Given the description of an element on the screen output the (x, y) to click on. 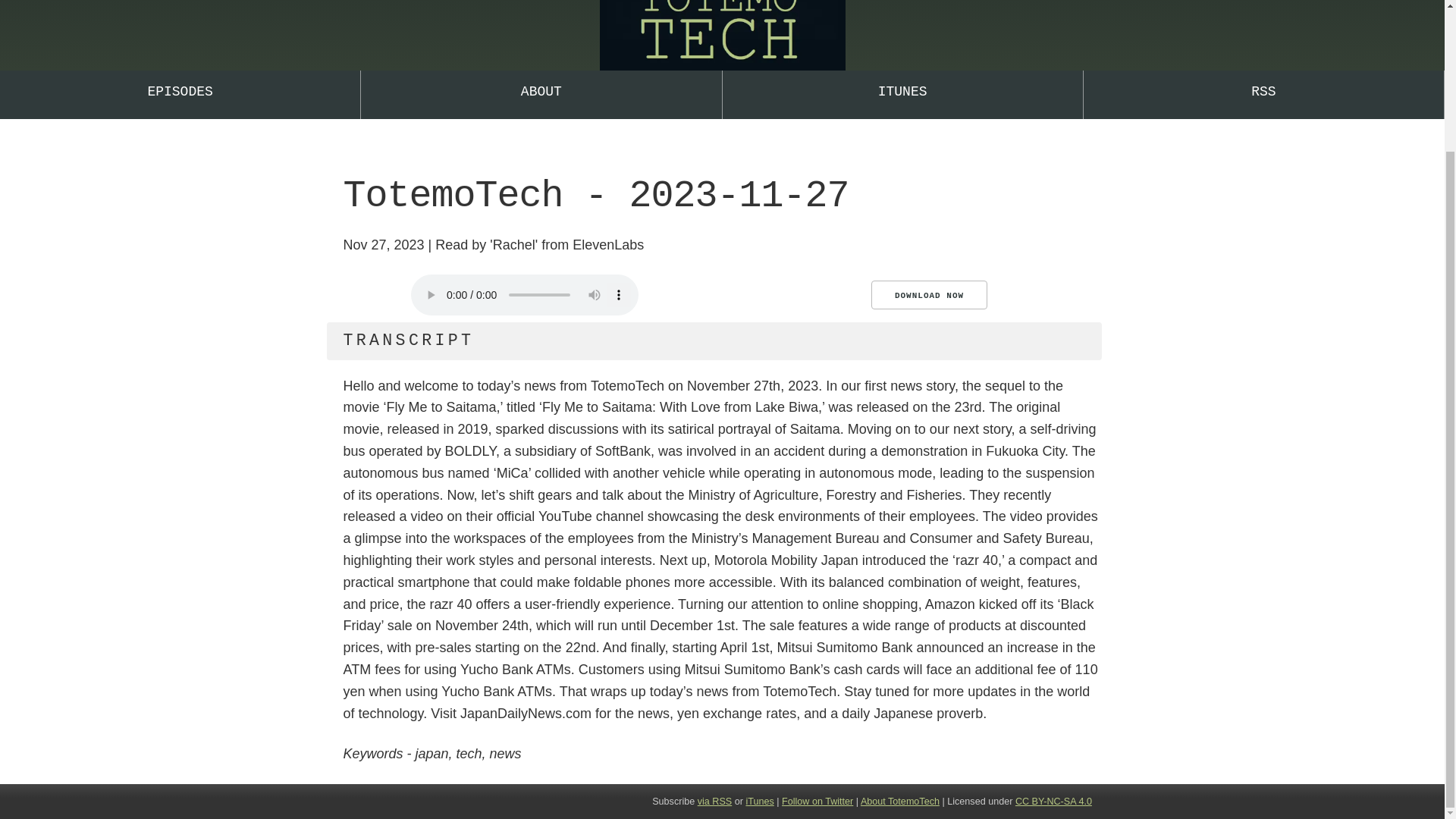
iTunes (759, 801)
DOWNLOAD NOW (928, 294)
RSS (1263, 94)
ITUNES (901, 94)
EPISODES (179, 94)
About TotemoTech (899, 801)
via RSS (714, 801)
CC BY-NC-SA 4.0 (1053, 801)
ABOUT (540, 94)
Follow on Twitter (817, 801)
